Given the description of an element on the screen output the (x, y) to click on. 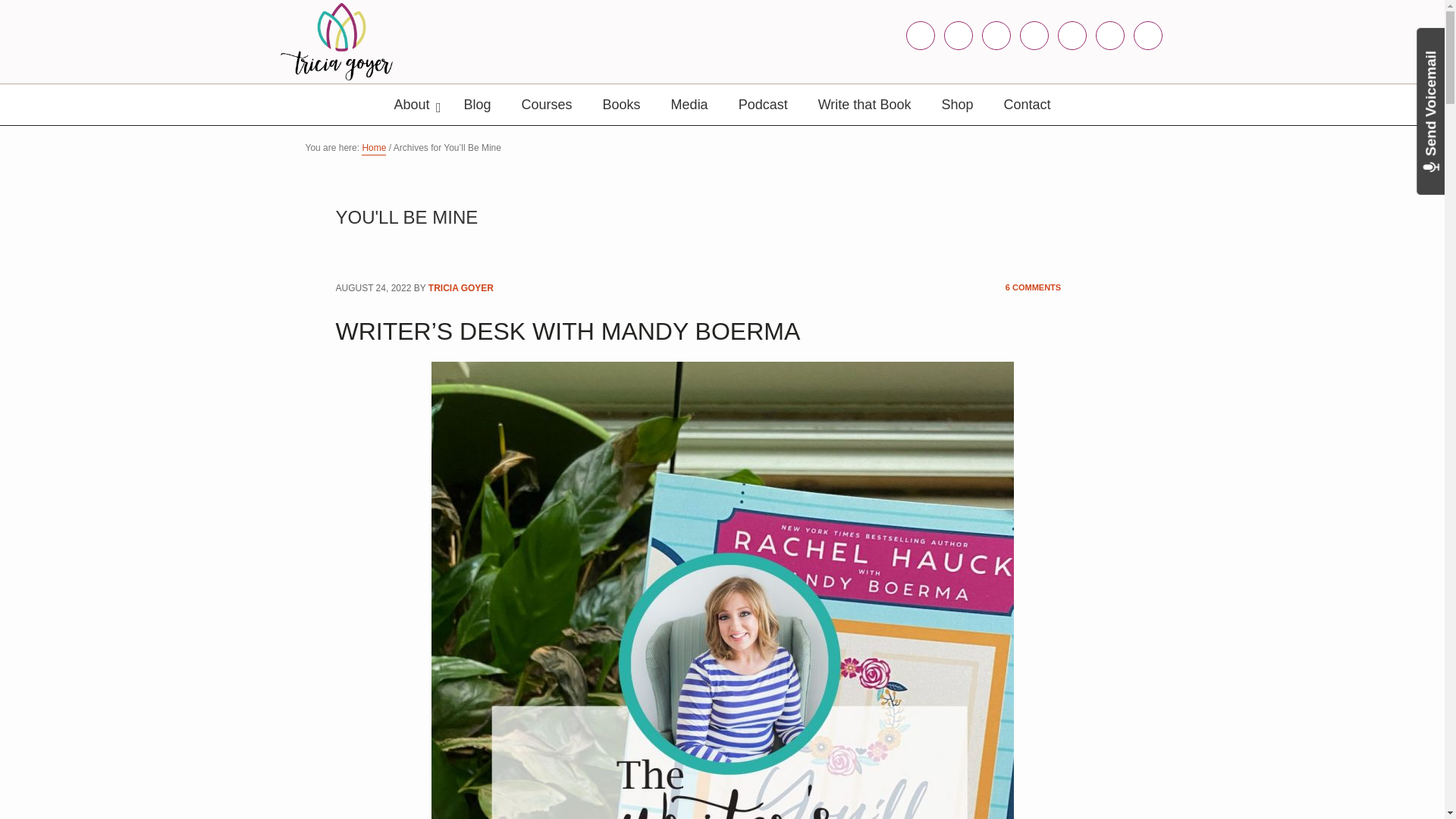
Home (373, 148)
6 COMMENTS (1033, 288)
About (413, 105)
Contact (1026, 105)
Media (689, 105)
Books (622, 105)
Blog (477, 105)
Podcast (763, 105)
Courses (547, 105)
Write that Book (864, 105)
Shop (957, 105)
TRICIA GOYER (460, 288)
